Given the description of an element on the screen output the (x, y) to click on. 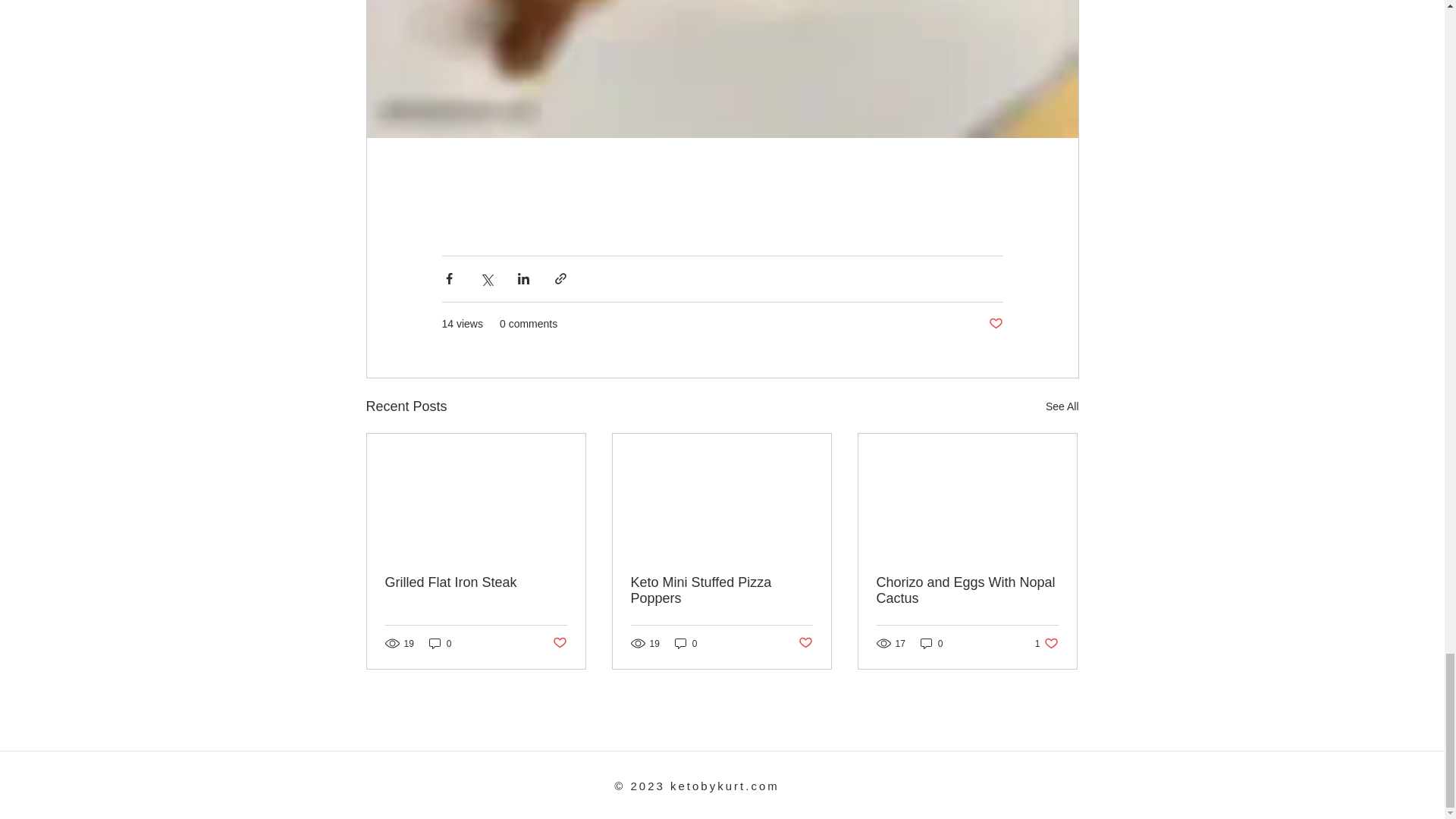
Post not marked as liked (804, 643)
See All (1061, 406)
Keto Mini Stuffed Pizza Poppers (721, 590)
Post not marked as liked (558, 643)
0 (931, 643)
Chorizo and Eggs With Nopal Cactus (967, 590)
0 (685, 643)
Grilled Flat Iron Steak (476, 582)
0 (440, 643)
Post not marked as liked (995, 324)
